Given the description of an element on the screen output the (x, y) to click on. 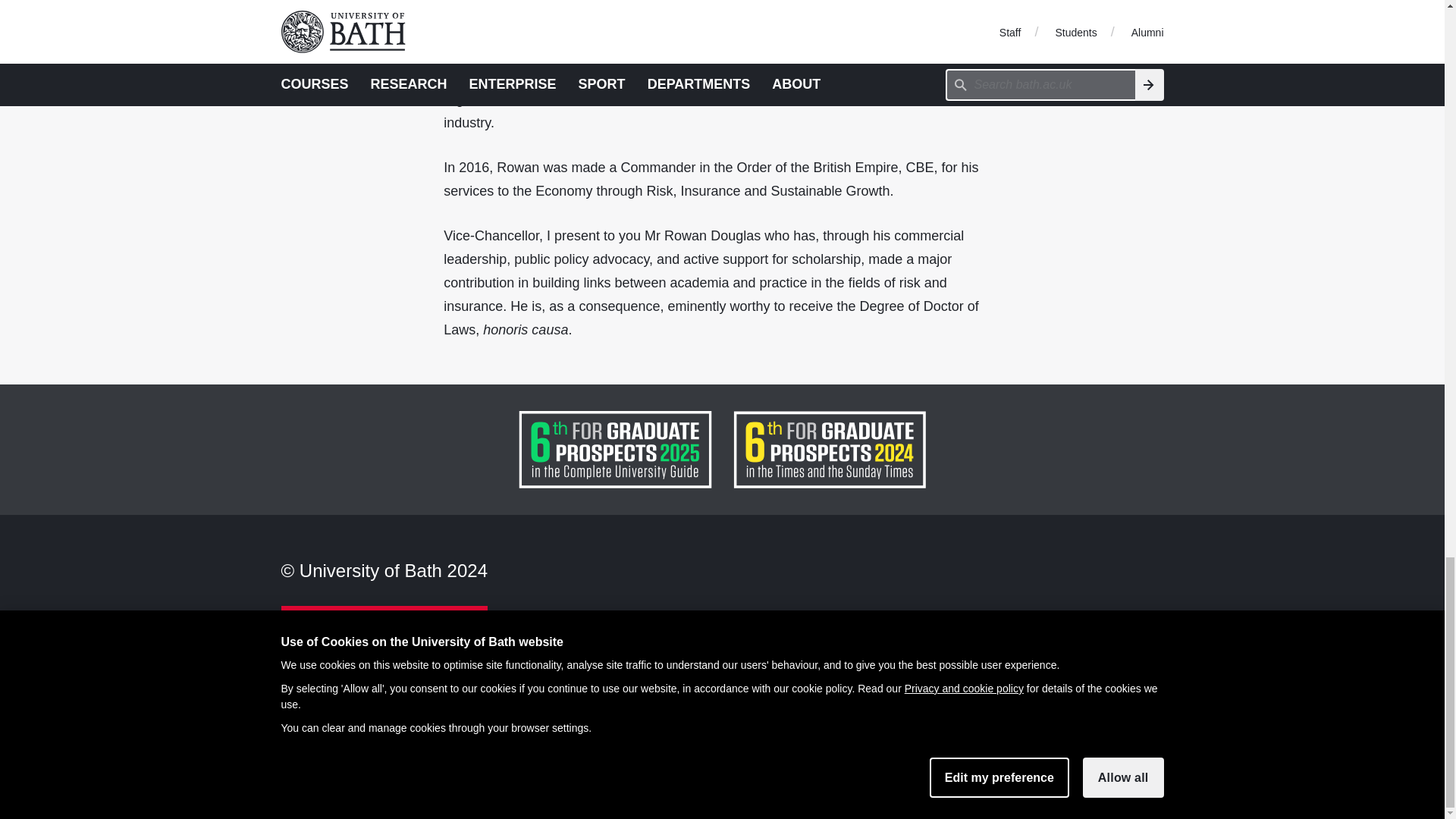
Freedom of information (351, 670)
Transparency information (357, 740)
Privacy and cookie policy (357, 717)
Website accessibility statement (375, 764)
Disclaimer (312, 646)
Modern slavery statement (359, 693)
